Given the description of an element on the screen output the (x, y) to click on. 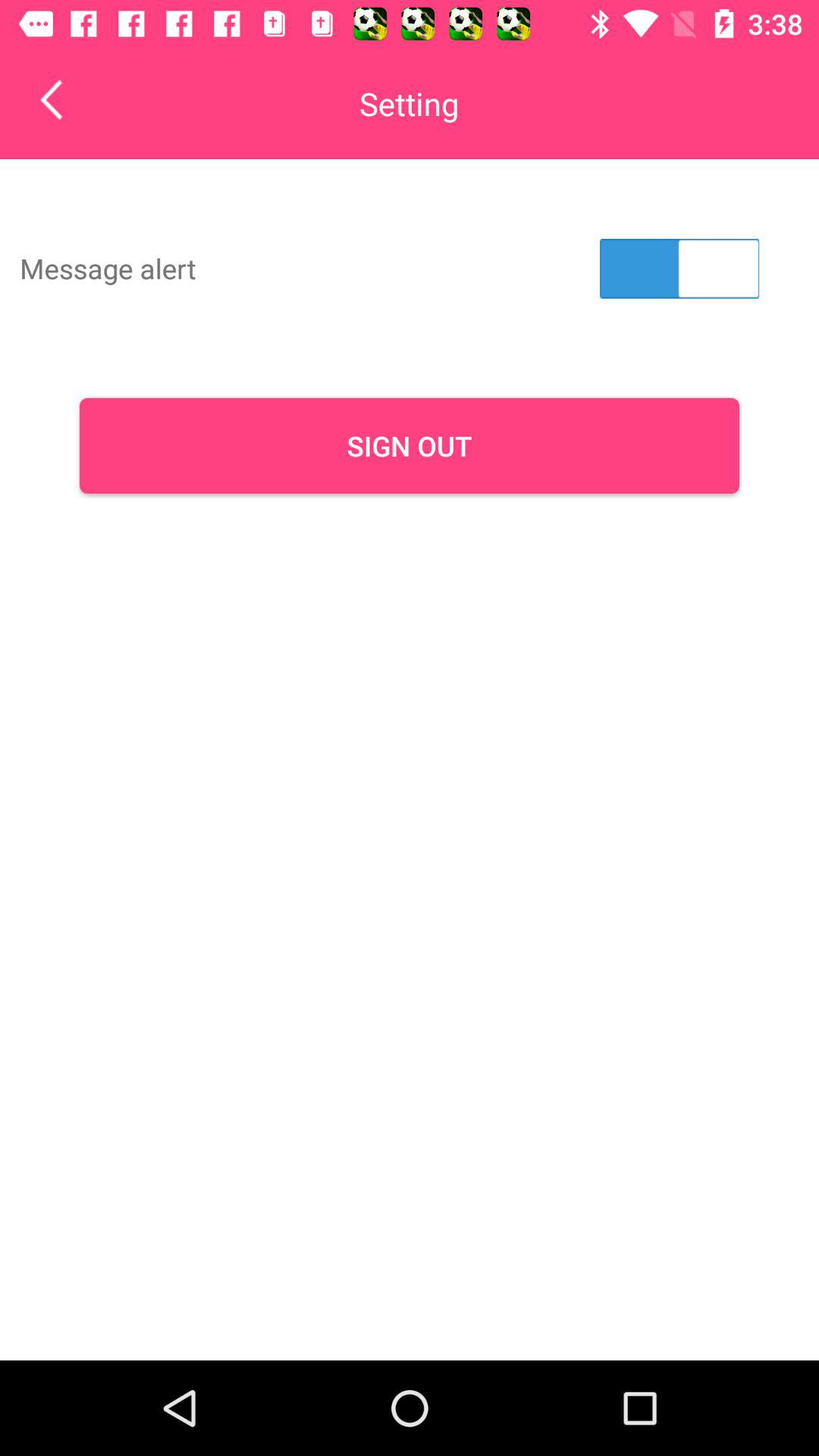
tap sign out item (409, 445)
